Given the description of an element on the screen output the (x, y) to click on. 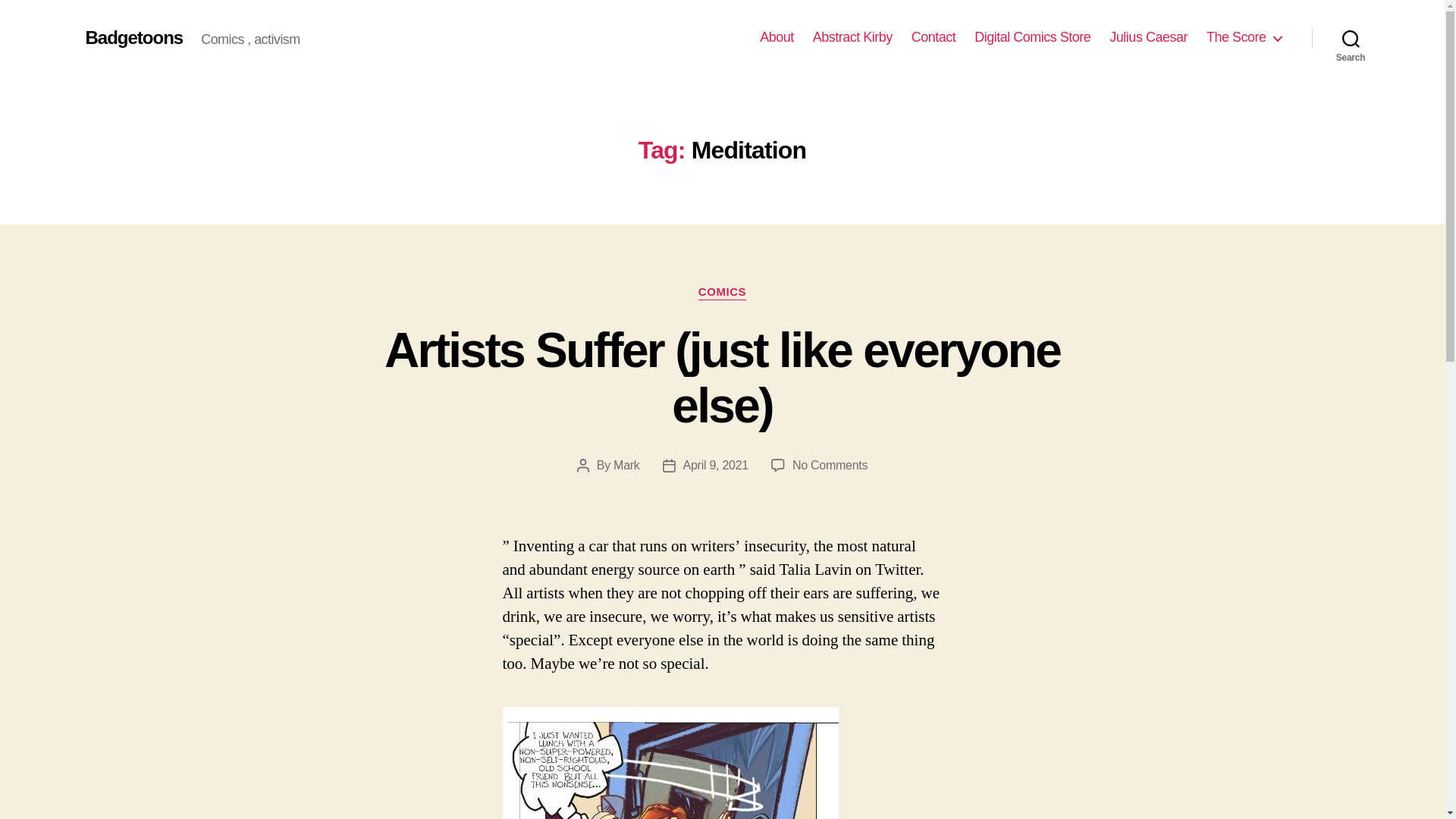
Abstract Kirby (852, 37)
Badgetoons (133, 37)
About (776, 37)
Julius Caesar (1148, 37)
Search (1350, 37)
Digital Comics Store (1032, 37)
The Score (1244, 37)
Contact (933, 37)
